Given the description of an element on the screen output the (x, y) to click on. 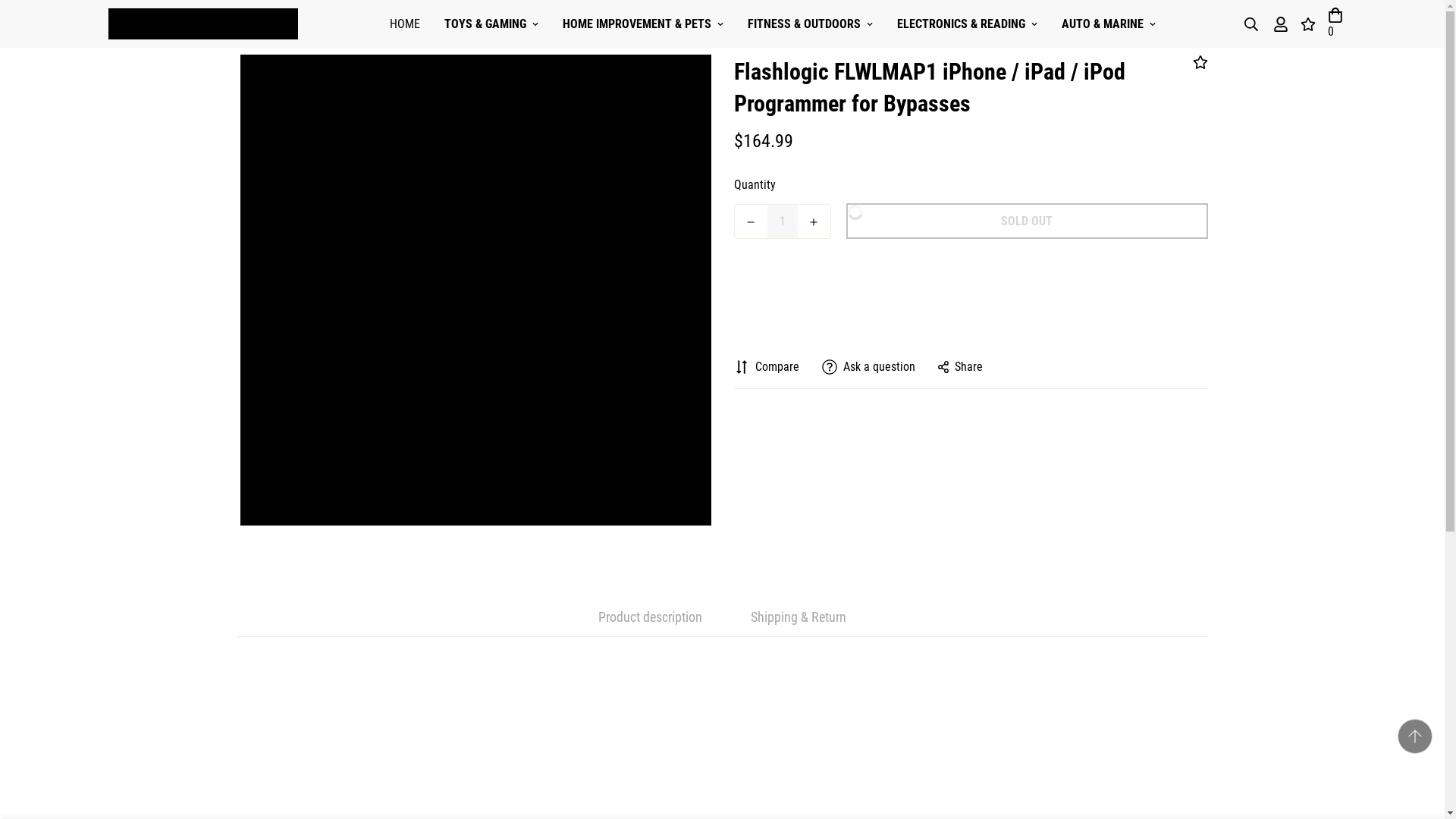
HobStop LLC (202, 22)
HOME (404, 23)
1 (782, 221)
Back to the home page (490, 21)
